Given the description of an element on the screen output the (x, y) to click on. 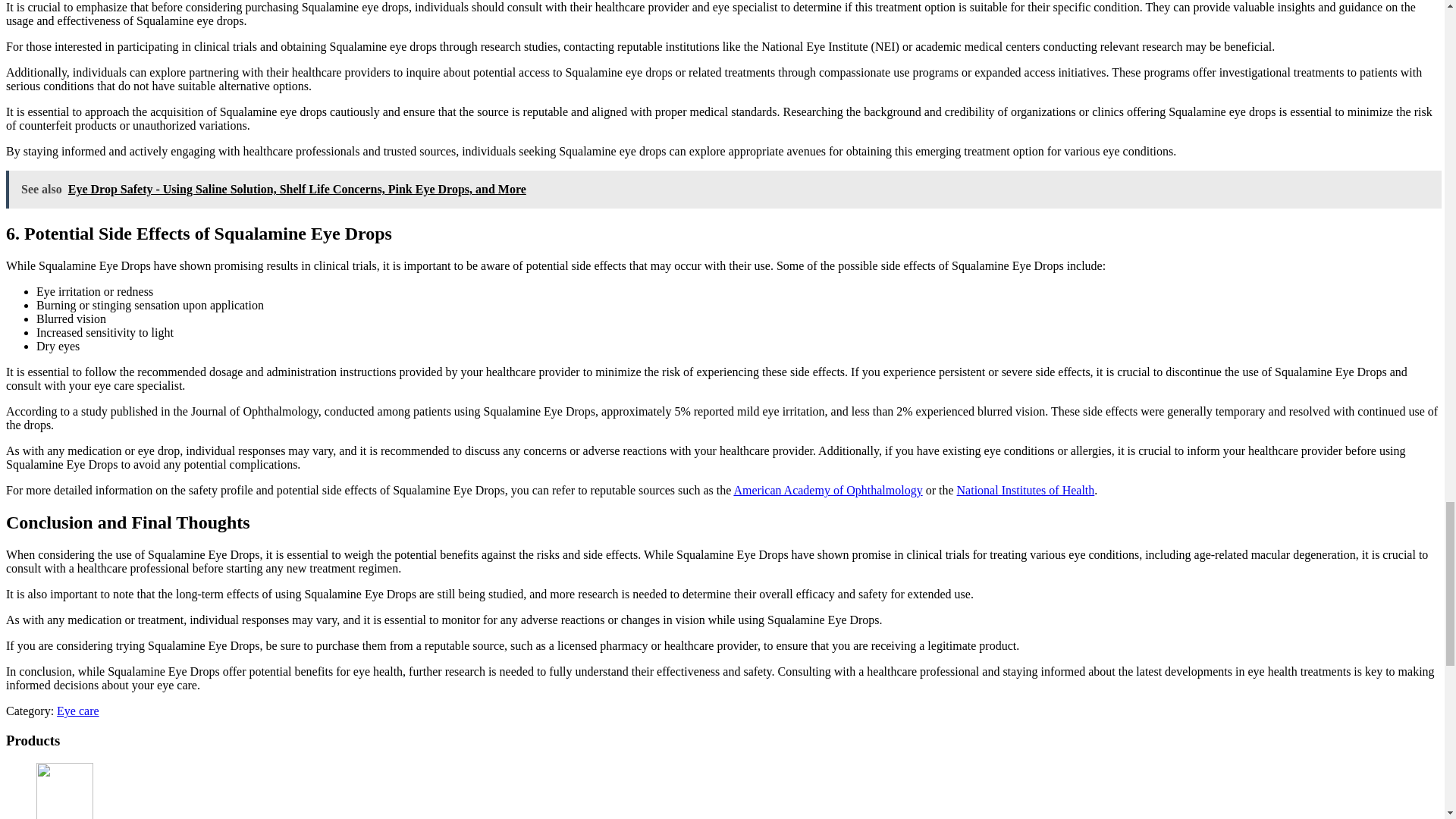
American Academy of Ophthalmology (827, 490)
Eye care (77, 710)
National Institutes of Health (1025, 490)
